Given the description of an element on the screen output the (x, y) to click on. 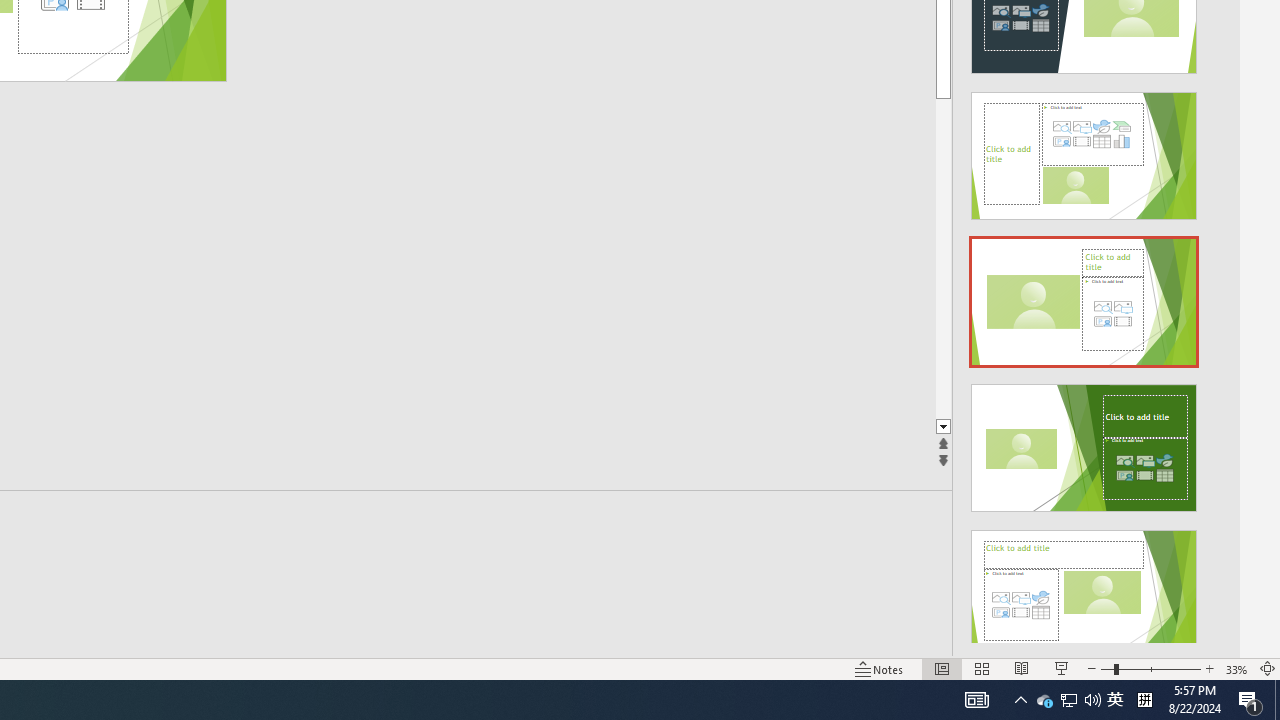
Zoom 33% (1236, 668)
